Given the description of an element on the screen output the (x, y) to click on. 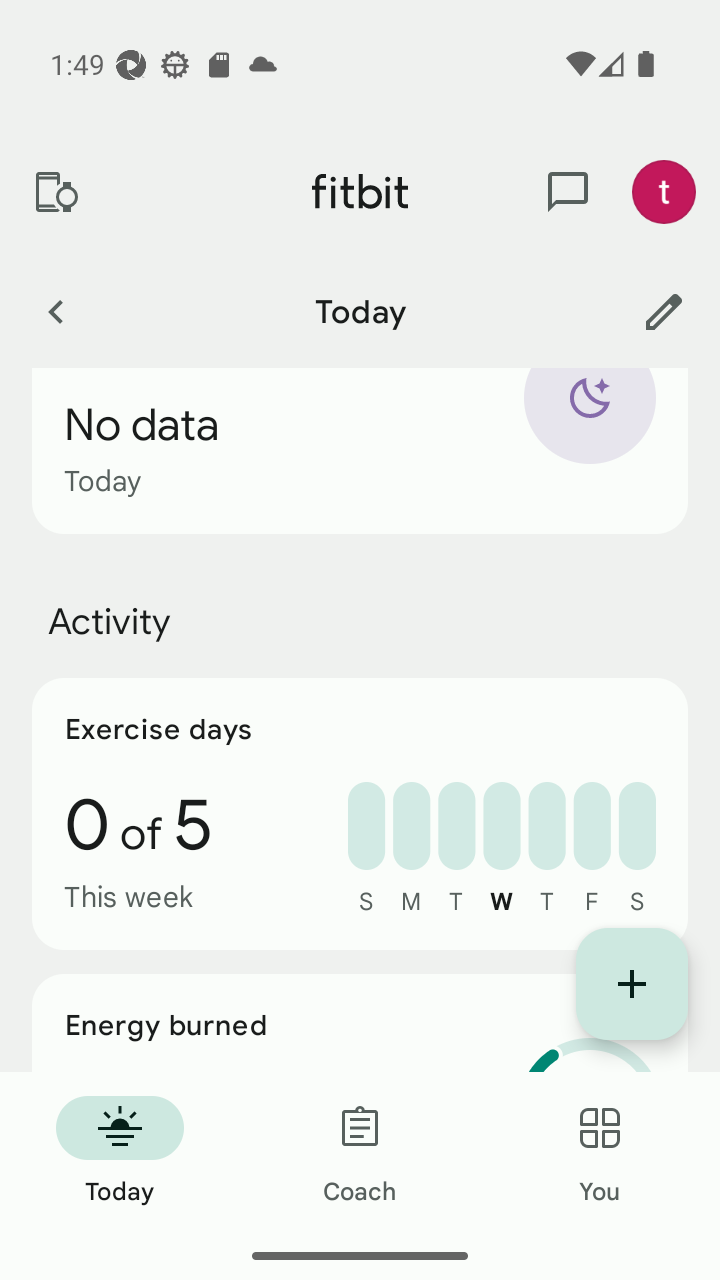
Devices and apps (55, 191)
messages and notifications (567, 191)
Previous Day (55, 311)
Customize (664, 311)
No data Today Sleep static arc (359, 450)
Exercise days 0 of 5 This week (359, 813)
Display list of quick log entries (632, 983)
Energy burned (359, 1023)
Coach (359, 1151)
You (600, 1151)
